Given the description of an element on the screen output the (x, y) to click on. 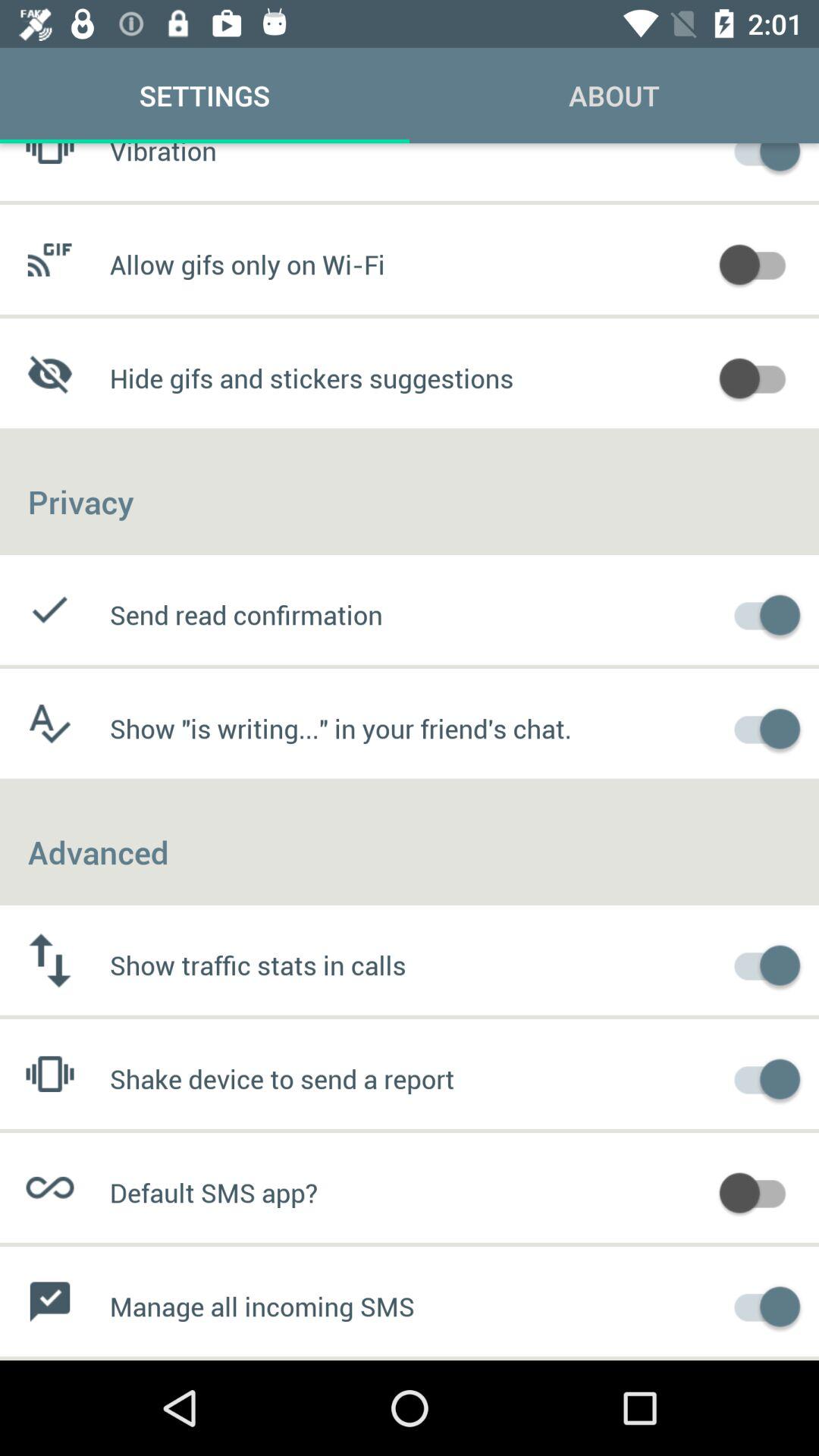
toggle send read confirmation option (759, 613)
